Given the description of an element on the screen output the (x, y) to click on. 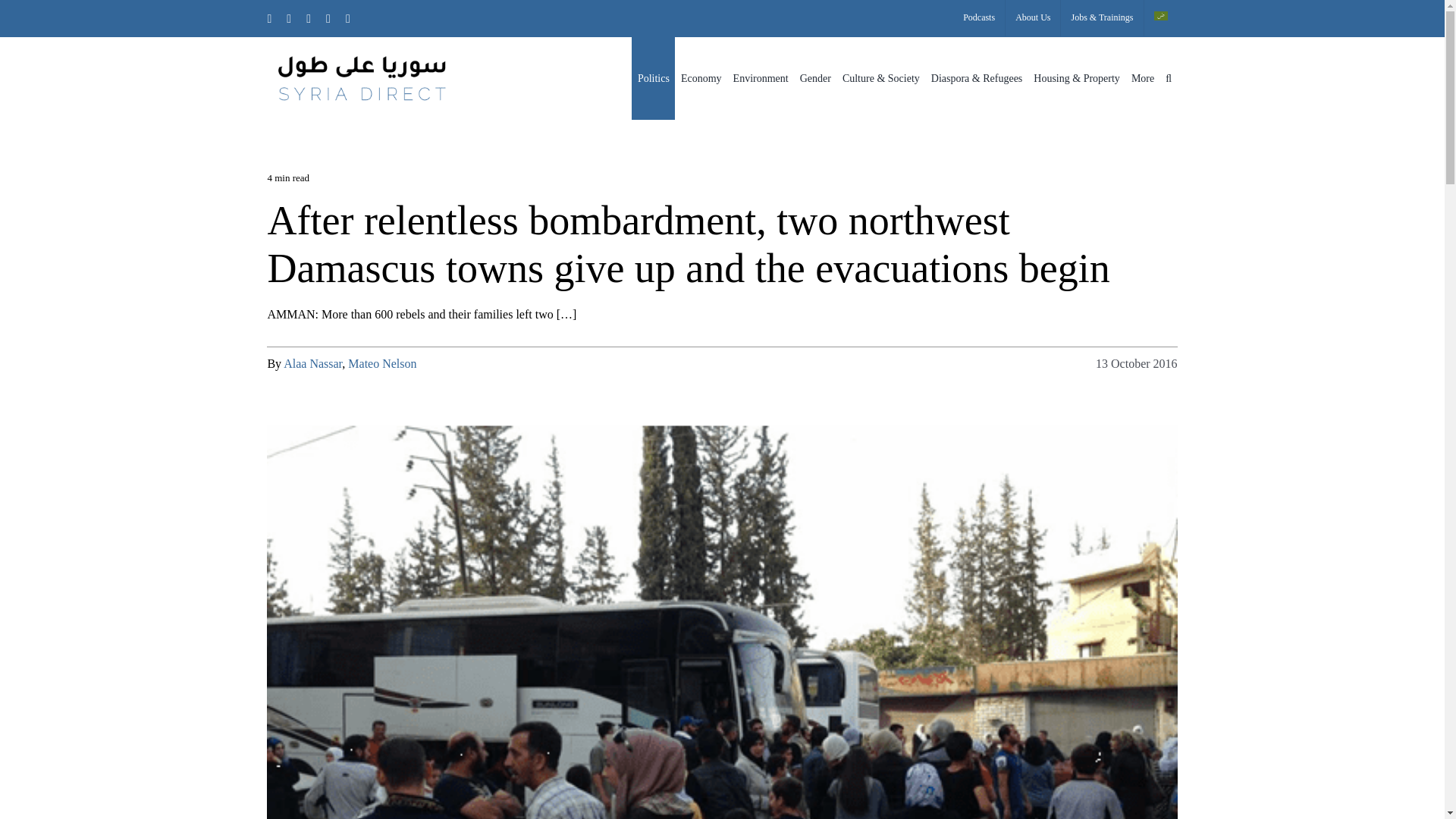
Podcasts (978, 18)
About Us (1032, 18)
